Given the description of an element on the screen output the (x, y) to click on. 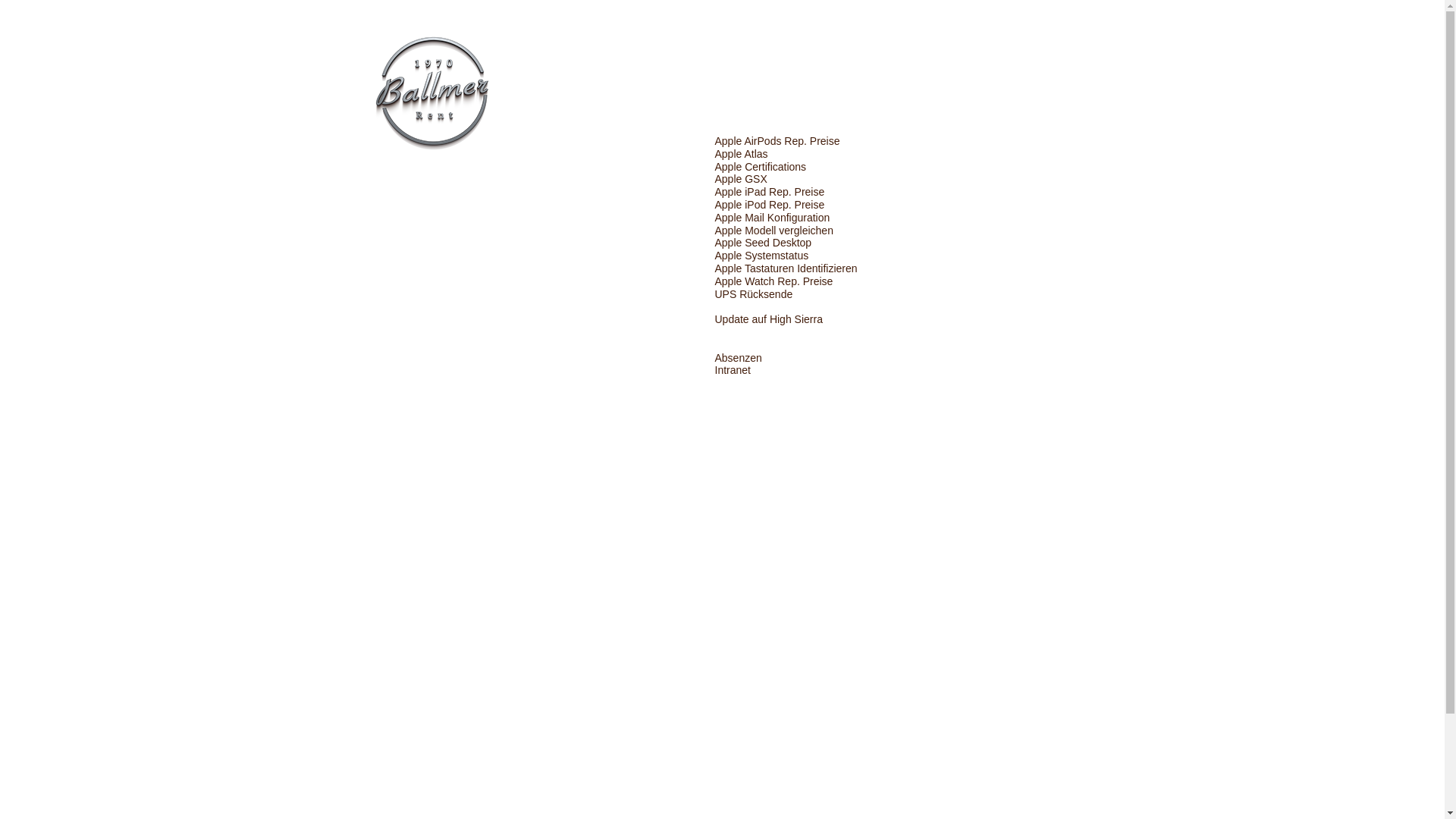
Apple iPod Rep. Preise Element type: text (769, 204)
Apple Mail Konfiguration Element type: text (771, 217)
Apple Modell vergleichen Element type: text (773, 230)
Apple iPad Rep. Preise Element type: text (769, 191)
Apple GSX Element type: text (740, 178)
Apple Atlas Element type: text (740, 153)
Apple Tastaturen Identifizieren Element type: text (785, 268)
Intranet Element type: text (731, 370)
Apple Systemstatus Element type: text (761, 255)
Update auf High Sierra Element type: text (768, 319)
Apple Watch Rep. Preise Element type: text (773, 281)
Absenzen Element type: text (737, 357)
Apple AirPods Rep. Preise Element type: text (776, 140)
Apple Certifications Element type: text (760, 166)
Apple Seed Desktop Element type: text (762, 242)
